Given the description of an element on the screen output the (x, y) to click on. 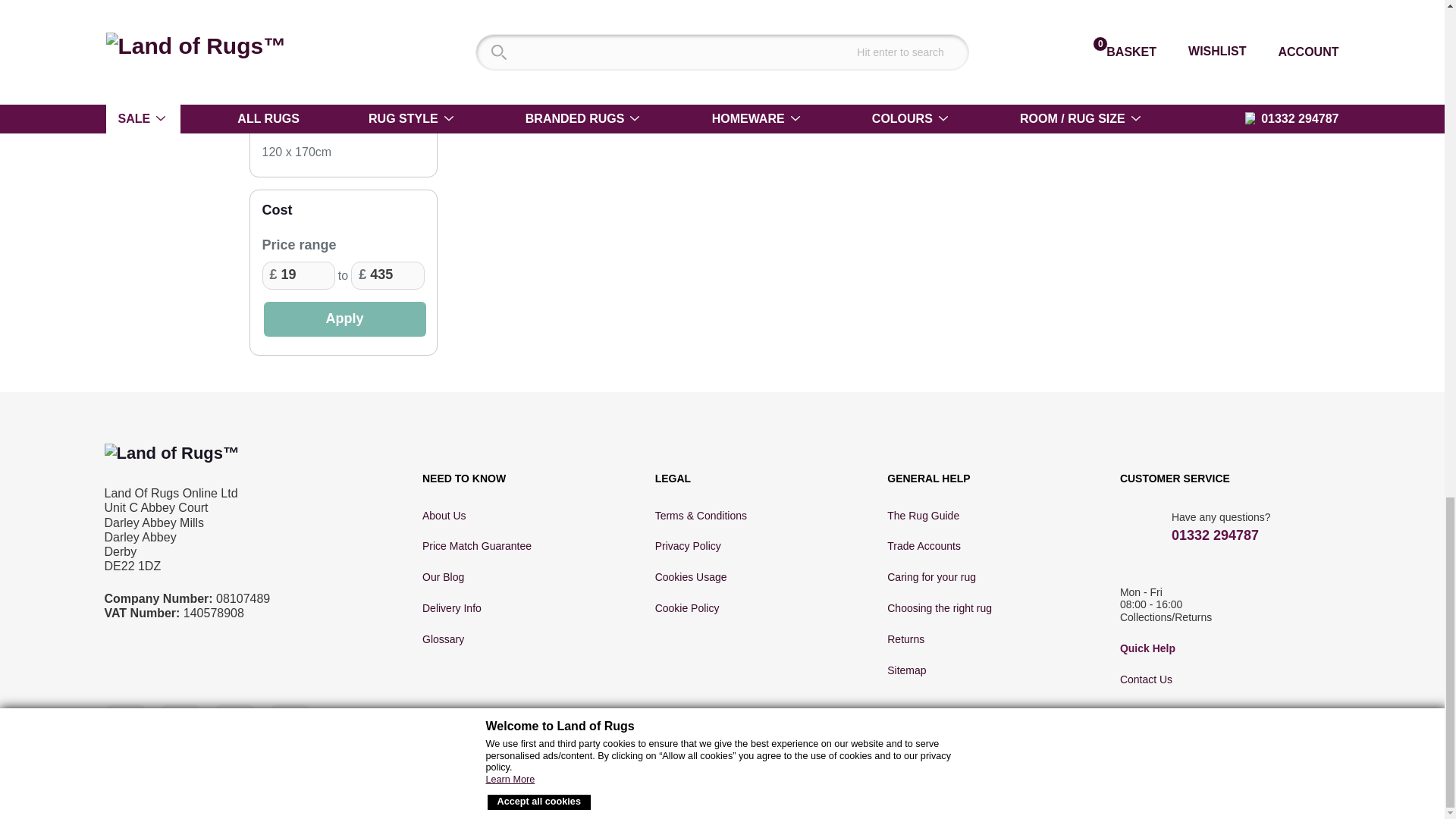
435 (386, 275)
PayPal (1128, 788)
Amazon Pay (1065, 787)
American Express (988, 790)
19 (298, 275)
MasterCard (1016, 790)
Apple Pay (1233, 790)
Klarna (1281, 790)
Visa (948, 790)
Google Pay (1184, 790)
